Given the description of an element on the screen output the (x, y) to click on. 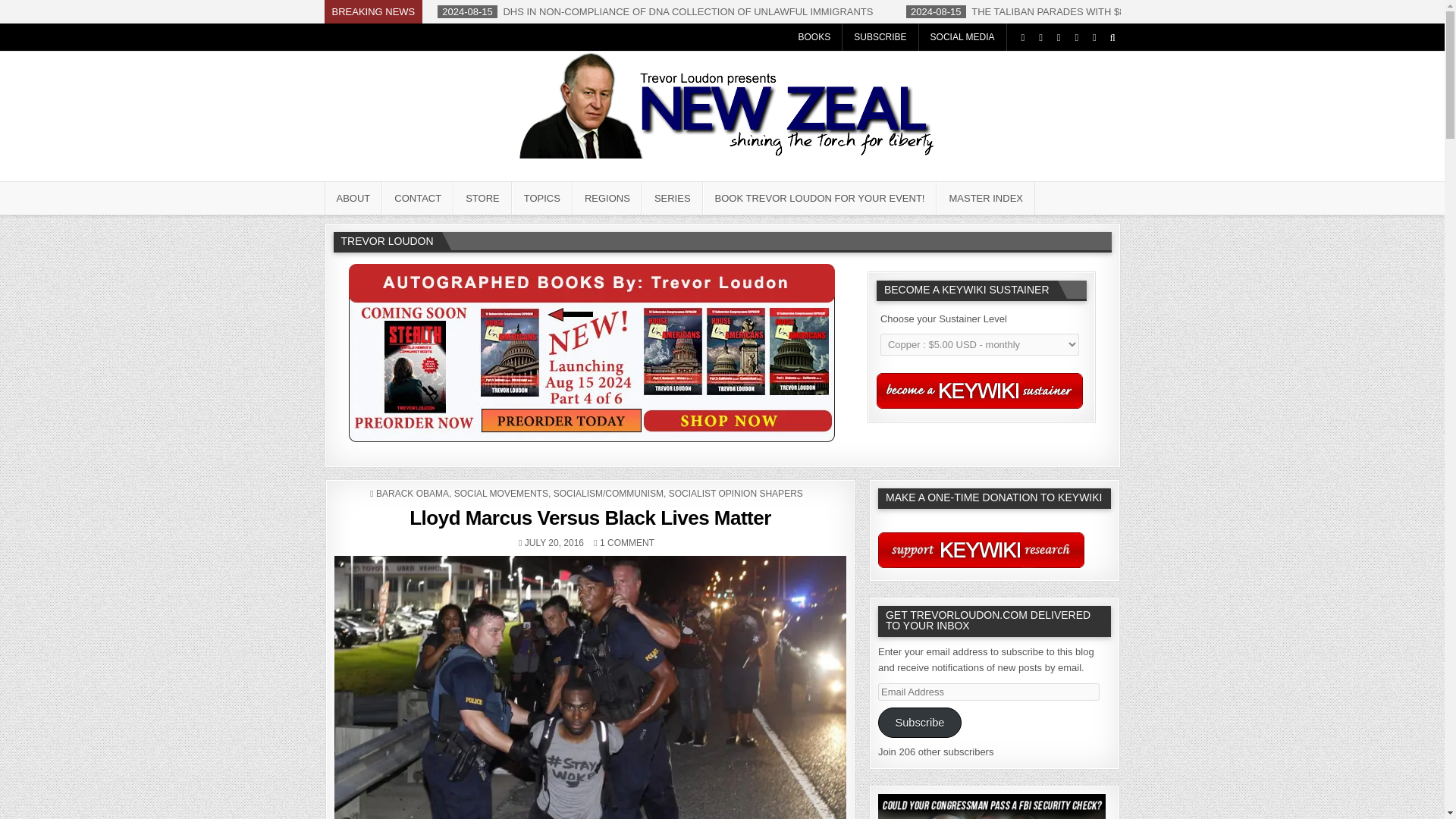
Facebook (1040, 37)
BOOKS (815, 36)
CONTACT (416, 197)
STORE (482, 197)
SUBSCRIBE (880, 36)
Youtube (1075, 37)
TOPICS (542, 197)
REGIONS (607, 197)
Search (1112, 37)
